Given the description of an element on the screen output the (x, y) to click on. 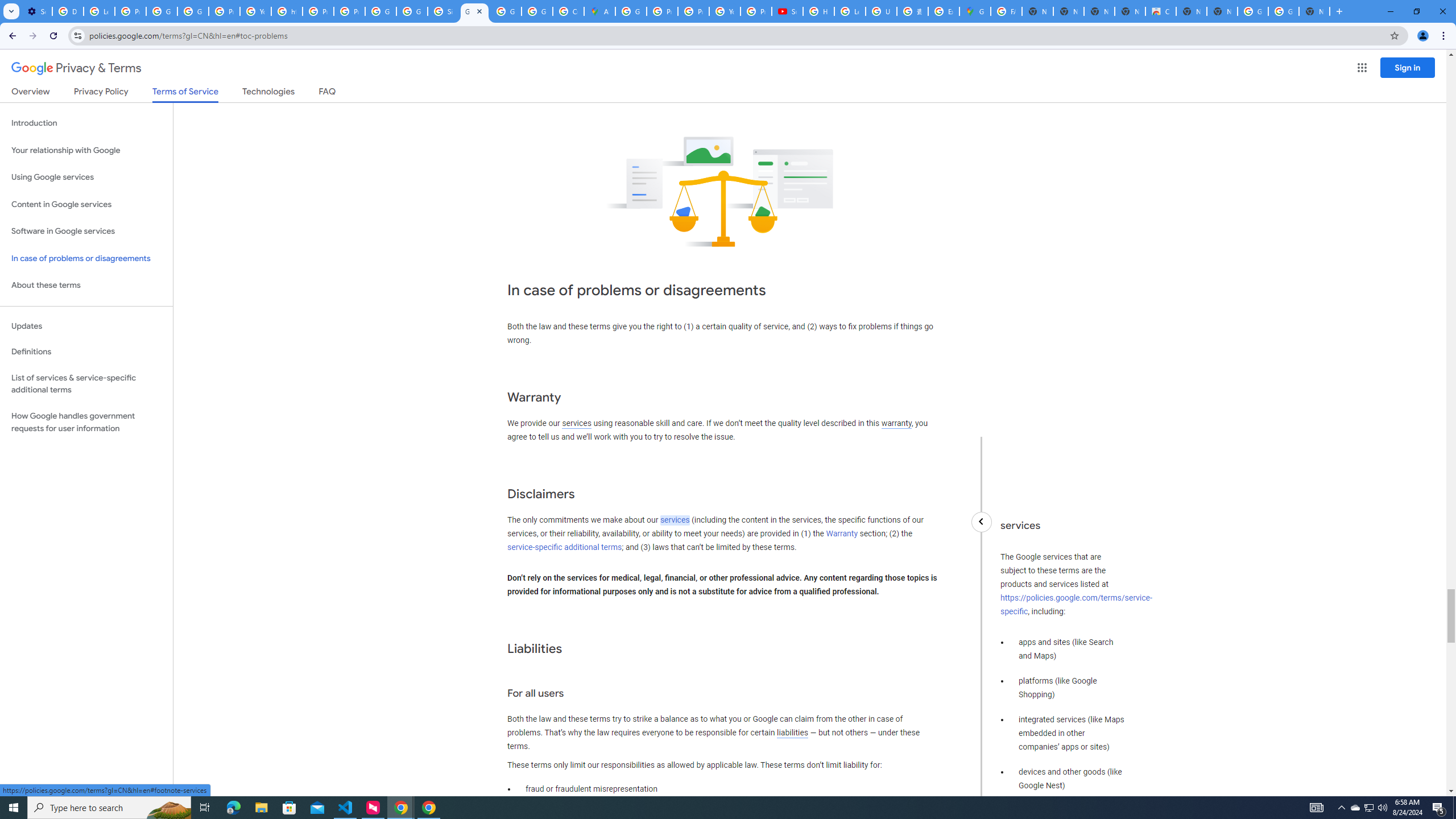
Subscriptions - YouTube (787, 11)
